Given the description of an element on the screen output the (x, y) to click on. 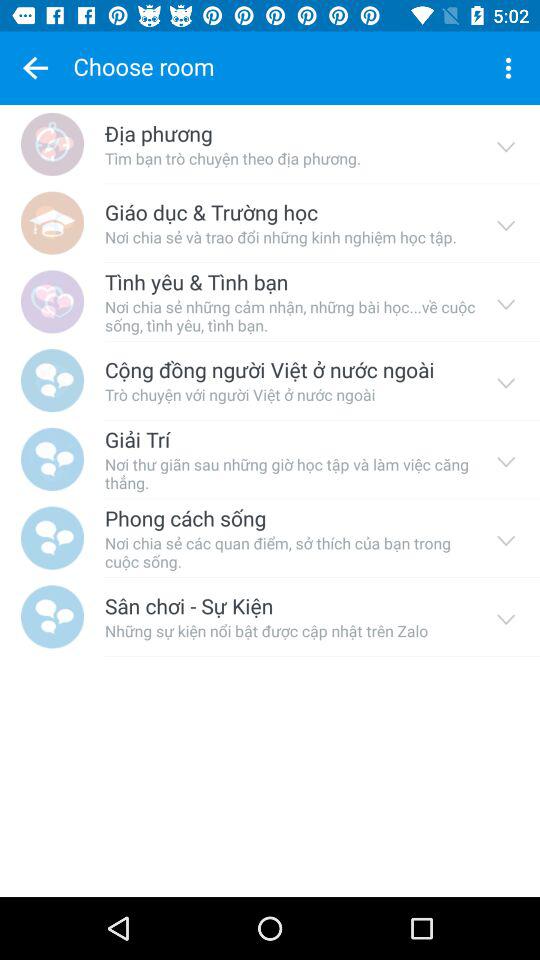
go back (35, 68)
